Given the description of an element on the screen output the (x, y) to click on. 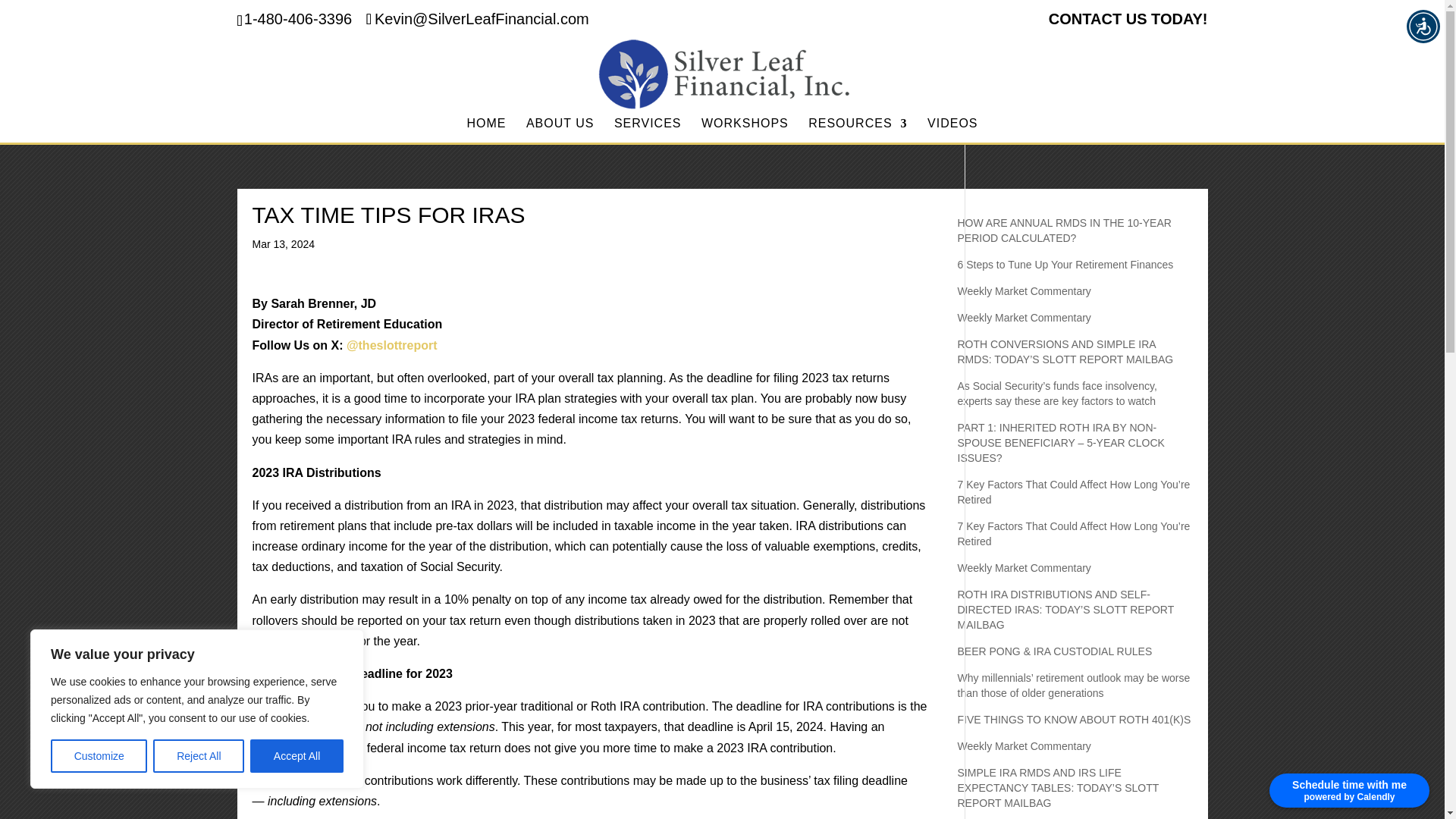
WORKSHOPS (745, 129)
SERVICES (647, 129)
Weekly Market Commentary (1023, 291)
Reject All (198, 756)
Accessibility Menu (1422, 26)
Weekly Market Commentary (1023, 317)
HOME (485, 129)
ABOUT US (559, 129)
Accept All (296, 756)
6 Steps to Tune Up Your Retirement Finances (1064, 264)
CONTACT US TODAY! (1128, 24)
HOW ARE ANNUAL RMDS IN THE 10-YEAR PERIOD CALCULATED? (1063, 230)
VIDEOS (951, 129)
Customize (98, 756)
RESOURCES (857, 129)
